Given the description of an element on the screen output the (x, y) to click on. 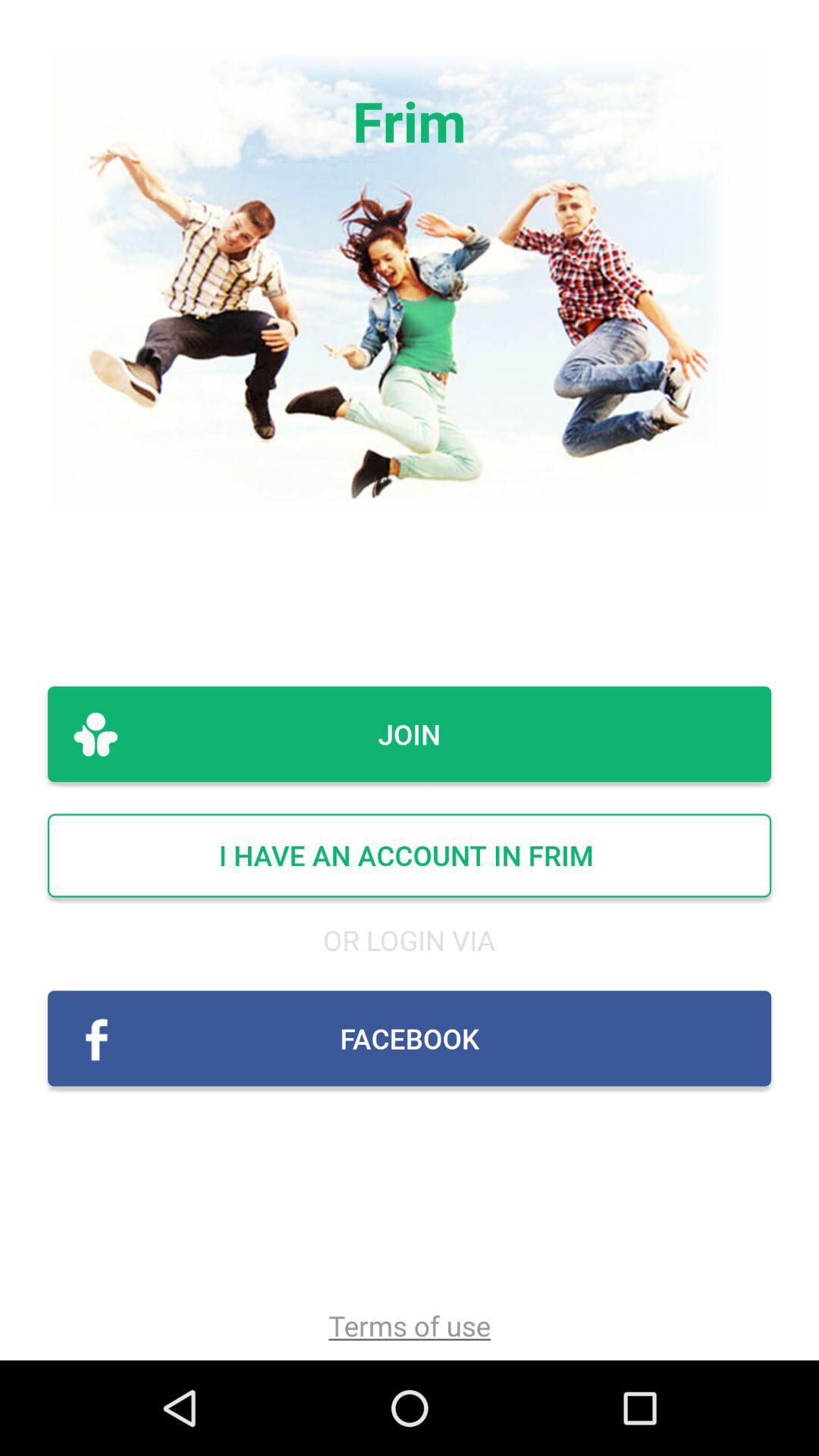
jump to the terms of use (409, 1325)
